Given the description of an element on the screen output the (x, y) to click on. 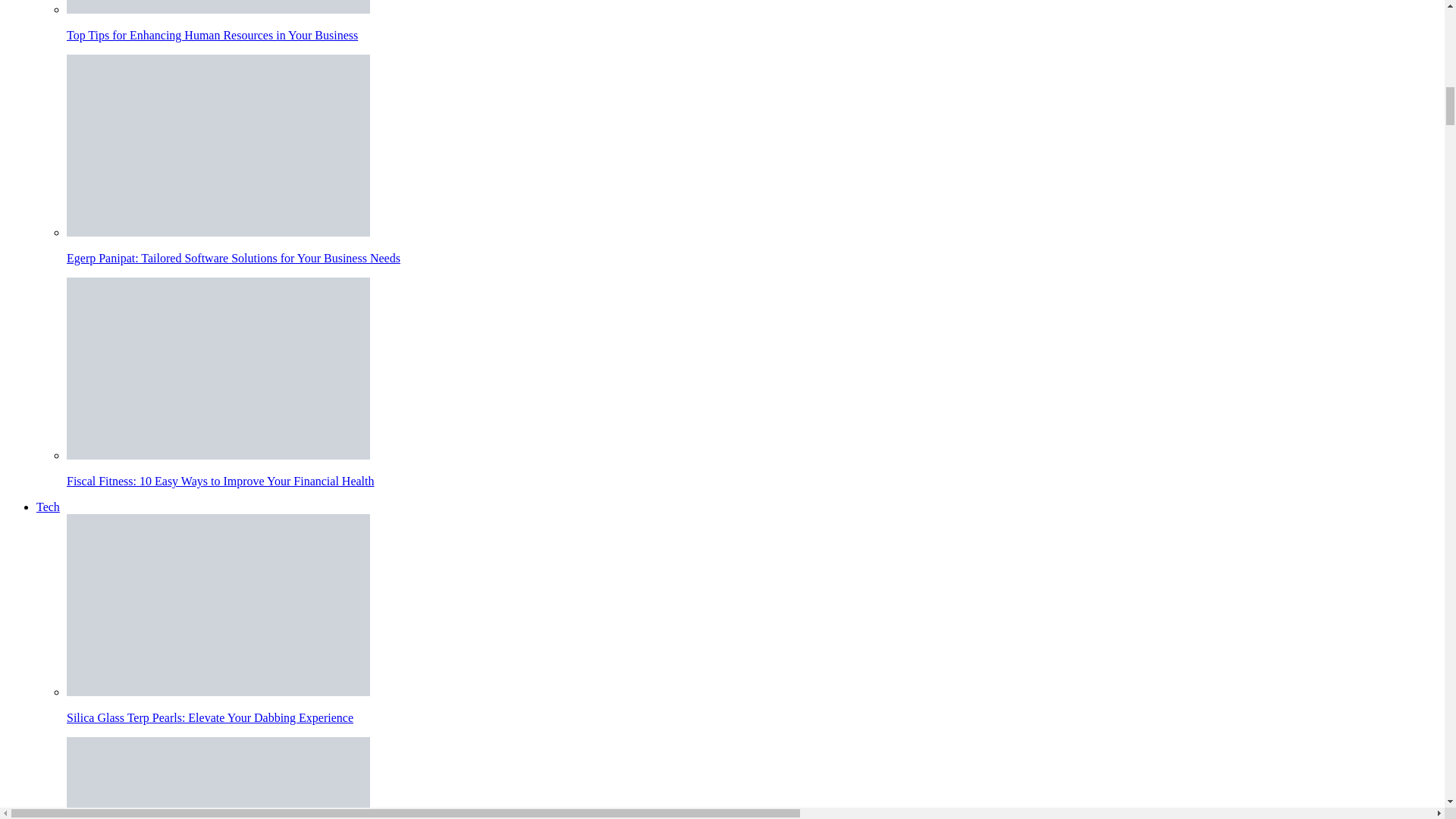
Top Tips for Enhancing Human Resources in Your Business (752, 21)
Tech (47, 506)
Top Tips for Enhancing Human Resources in Your Business 6 (217, 6)
Silica Glass Terp Pearls: Elevate Your Dabbing Experience 9 (217, 605)
